Given the description of an element on the screen output the (x, y) to click on. 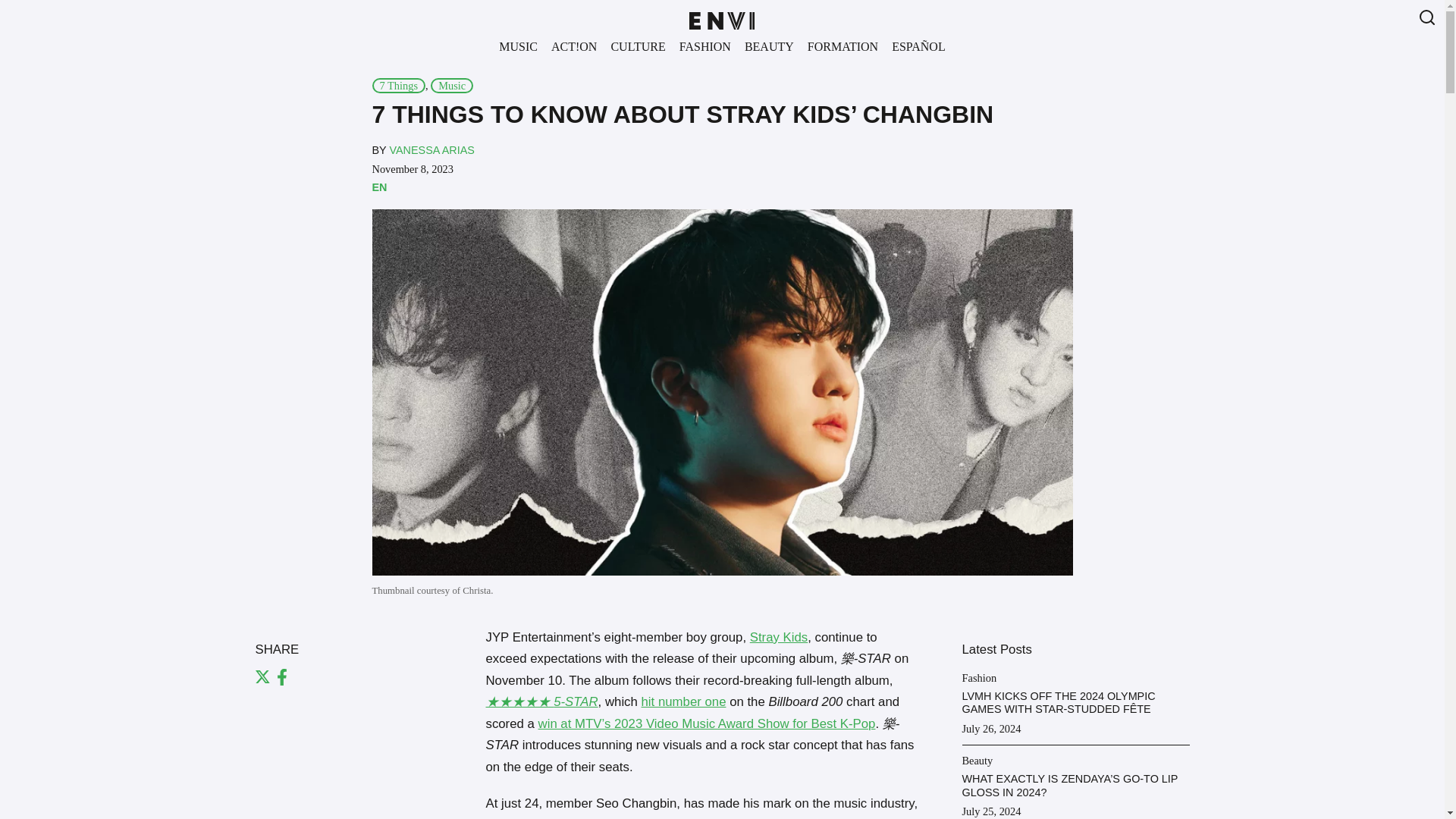
VANESSA ARIAS (431, 150)
Music (451, 85)
MUSIC (518, 46)
FASHION (704, 46)
Stray Kids (778, 636)
CULTURE (637, 46)
ACT!ON (573, 46)
7 Things (398, 85)
FORMATION (842, 46)
BEAUTY (768, 46)
hit number one (684, 701)
